Given the description of an element on the screen output the (x, y) to click on. 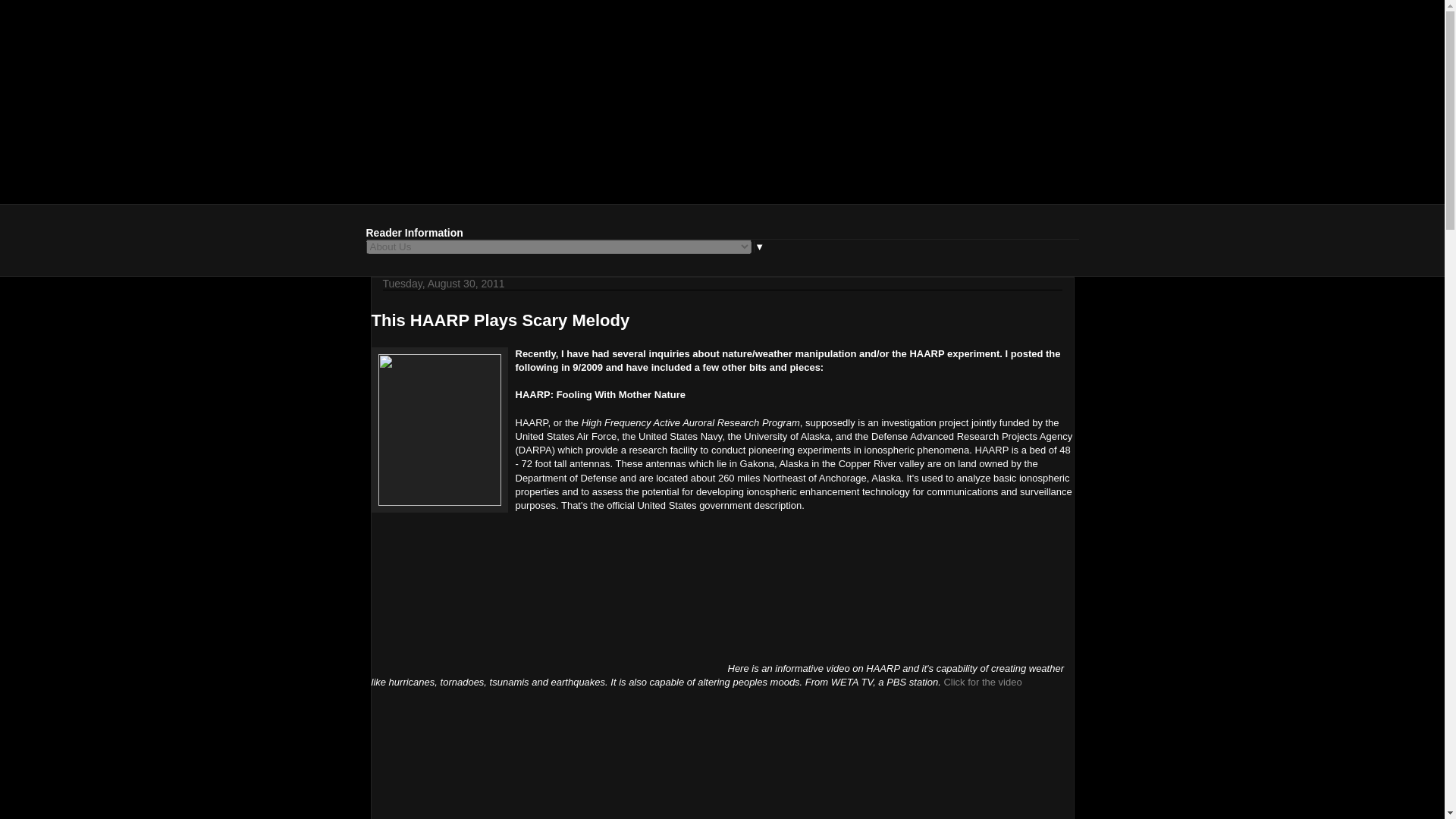
Click for the video (982, 681)
This HAARP Plays Scary Melody (500, 320)
